Given the description of an element on the screen output the (x, y) to click on. 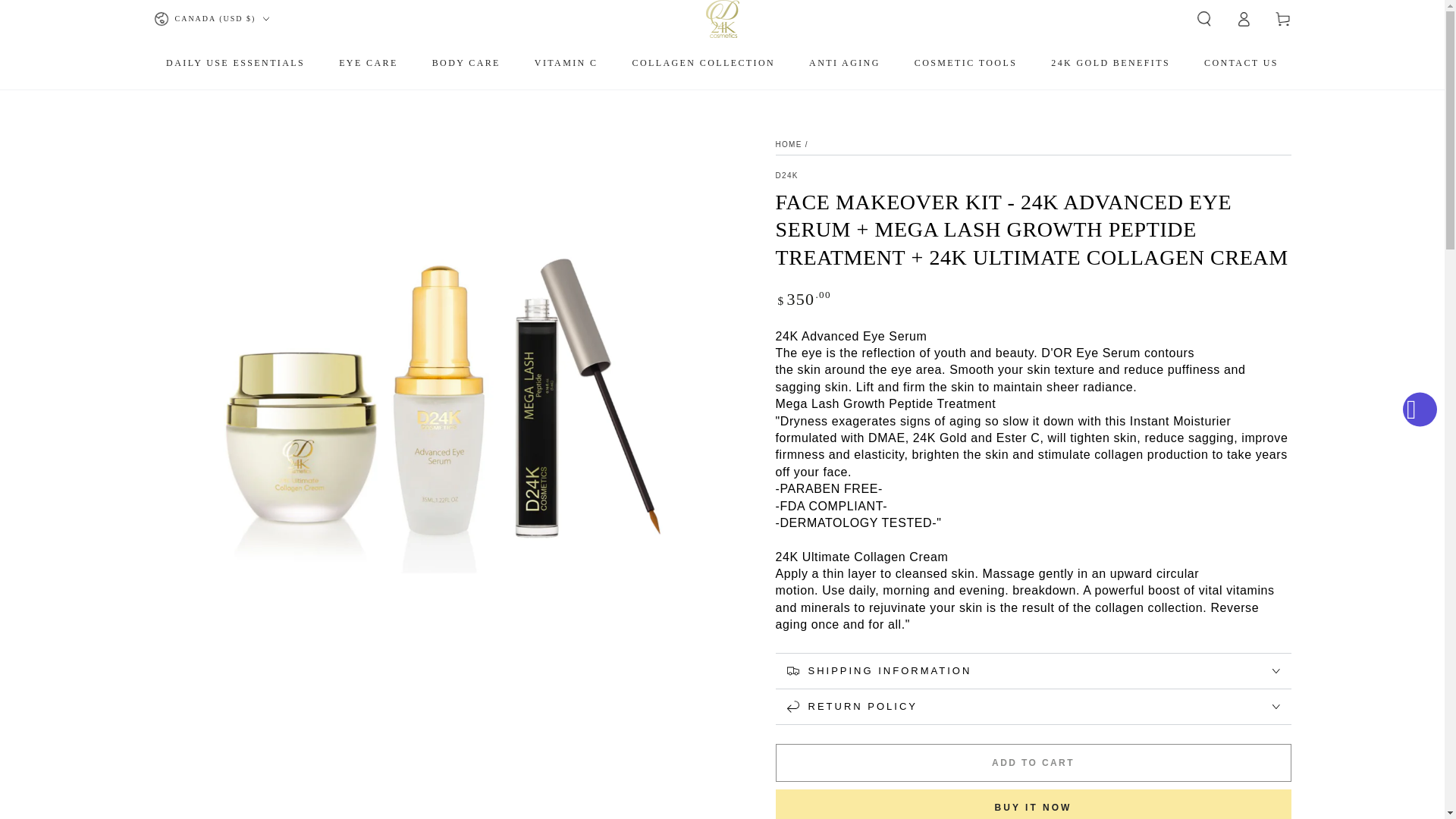
VITAMIN C (566, 62)
24K GOLD BENEFITS (1109, 62)
DAILY USE ESSENTIALS (234, 62)
SKIP TO PRODUCT INFORMATION (243, 134)
EYE CARE (368, 62)
ANTI AGING (844, 62)
COSMETIC TOOLS (965, 62)
D24K (785, 175)
BUY IT NOW (1032, 804)
COLLAGEN COLLECTION (703, 62)
SKIP TO CONTENT (67, 14)
BODY CARE (466, 62)
Back to the frontpage (788, 144)
ADD TO CART (1032, 762)
